Given the description of an element on the screen output the (x, y) to click on. 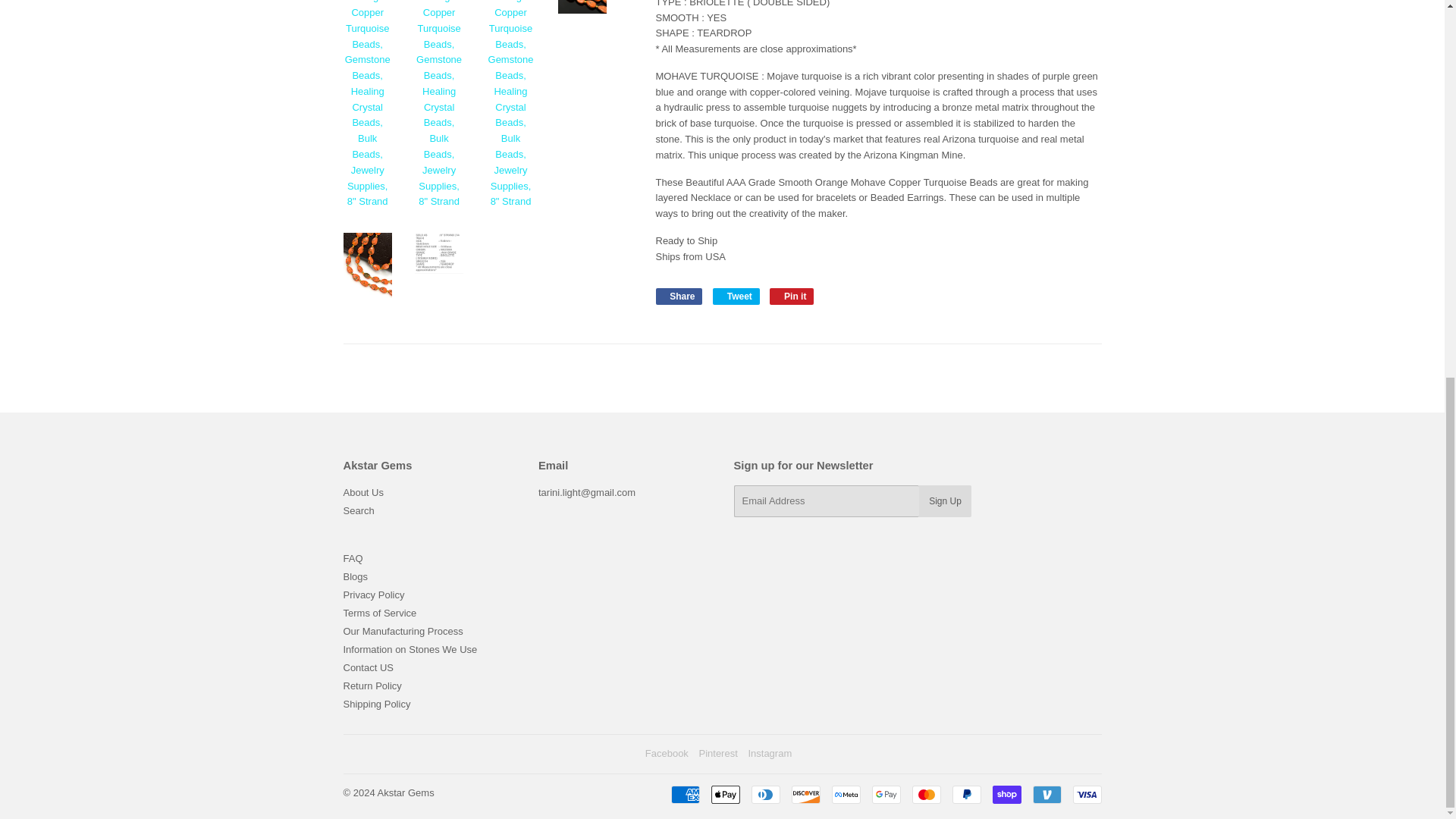
American Express (683, 794)
Pin on Pinterest (791, 296)
Mastercard (925, 794)
Diners Club (764, 794)
Visa (1085, 794)
Venmo (1046, 794)
Akstar Gems on Pinterest (717, 753)
Tweet on Twitter (736, 296)
Meta Pay (845, 794)
Discover (806, 794)
